Given the description of an element on the screen output the (x, y) to click on. 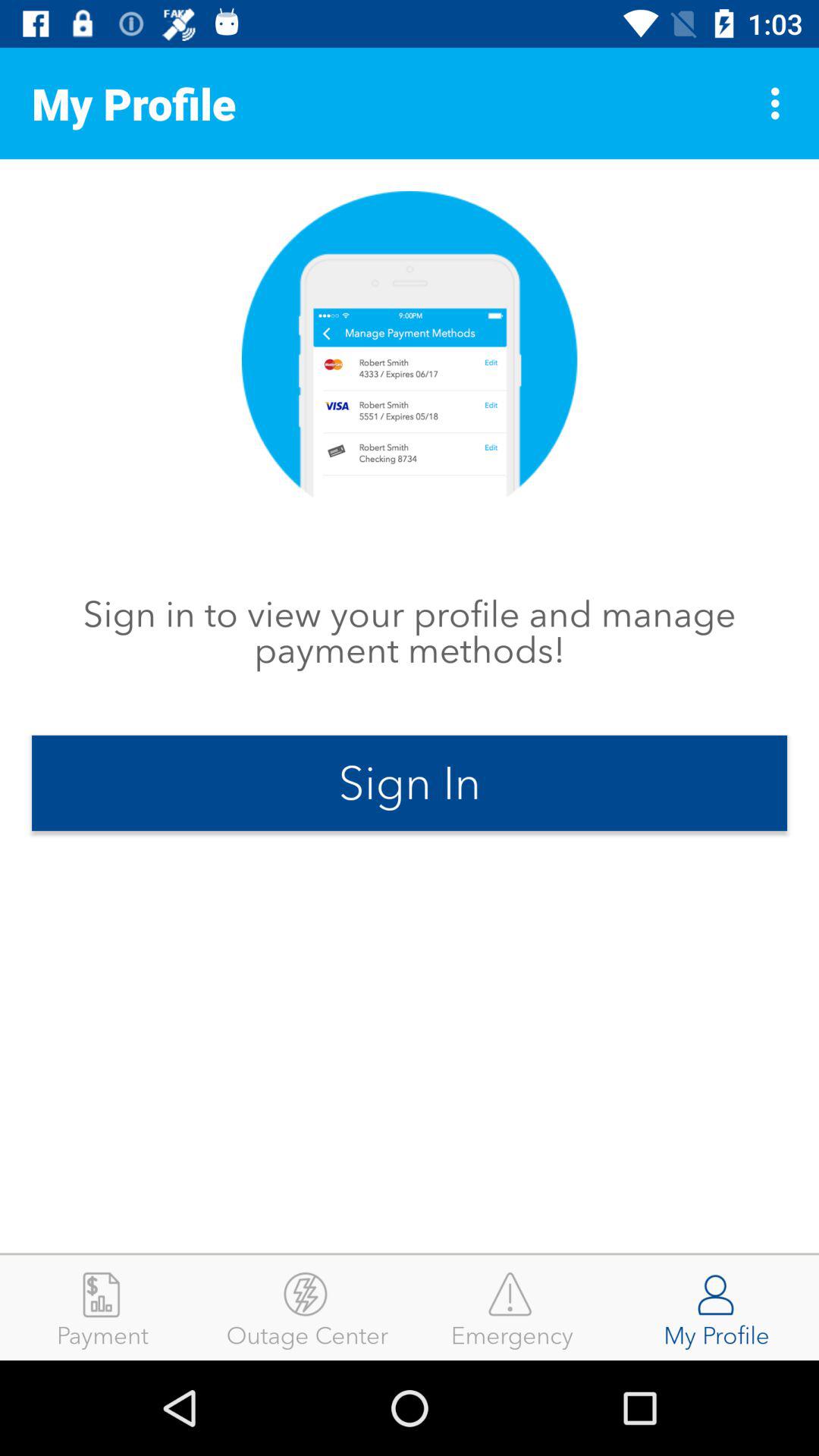
turn off the icon to the left of the emergency item (306, 1307)
